Given the description of an element on the screen output the (x, y) to click on. 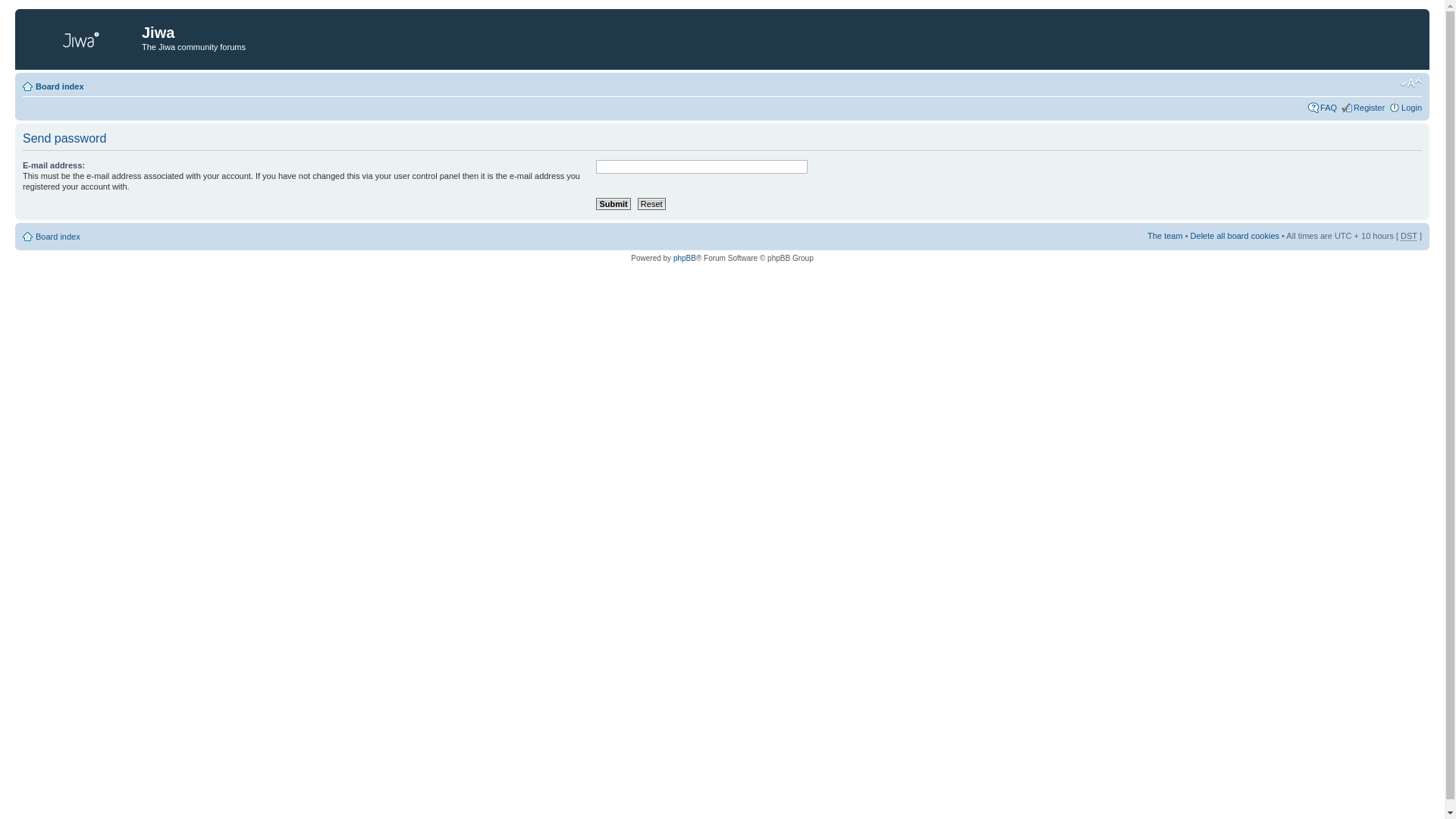
Delete all board cookies Element type: text (1234, 235)
Submit Element type: text (613, 203)
The team Element type: text (1164, 235)
Change font size Element type: text (1410, 83)
FAQ Element type: text (1328, 107)
phpBB Element type: text (684, 258)
Board index Element type: text (57, 236)
Login Element type: text (1411, 107)
Board index Element type: hover (79, 36)
Register Element type: text (1368, 107)
Board index Element type: text (59, 86)
